Given the description of an element on the screen output the (x, y) to click on. 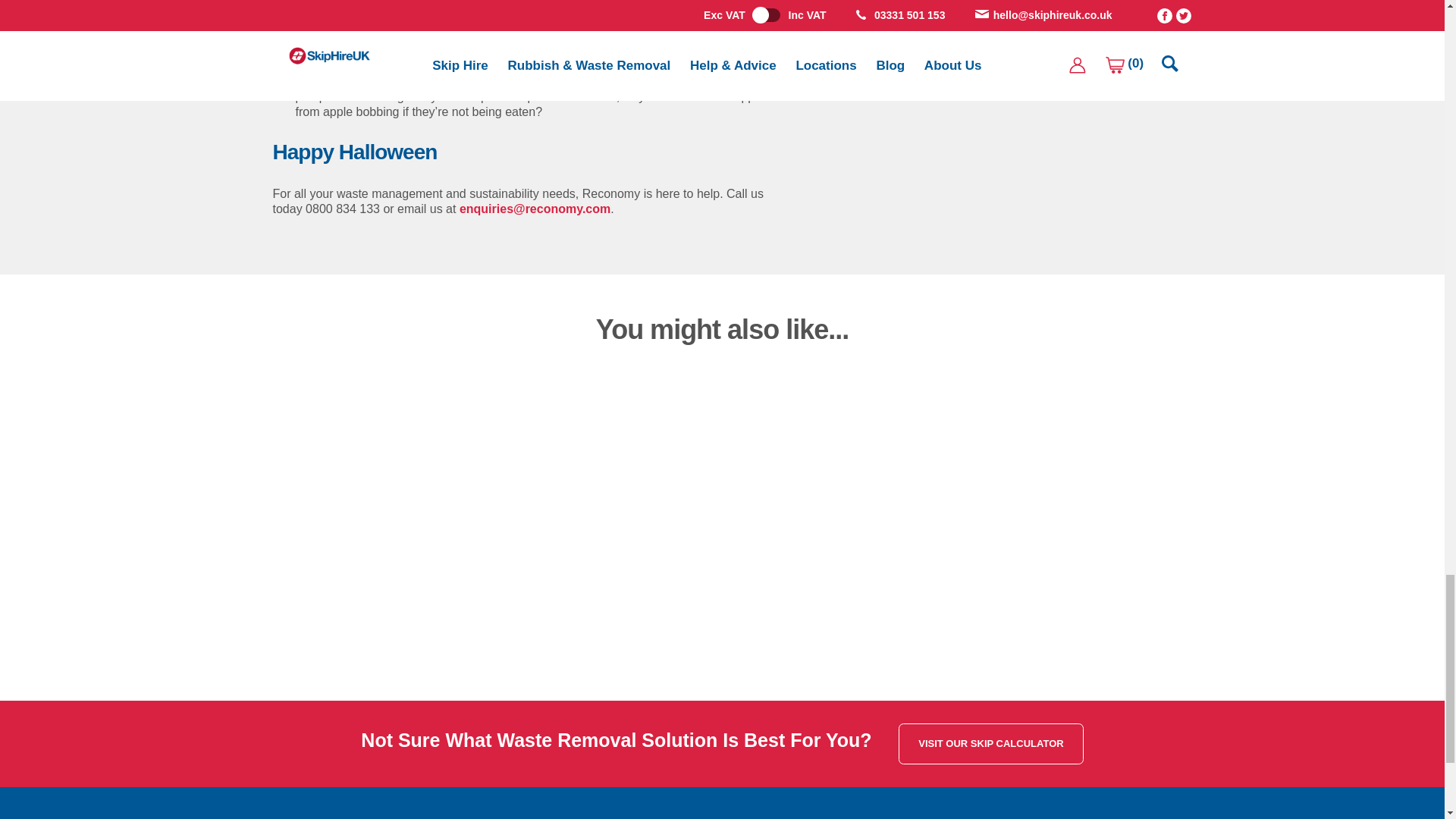
BBC Good Food (653, 20)
